Given the description of an element on the screen output the (x, y) to click on. 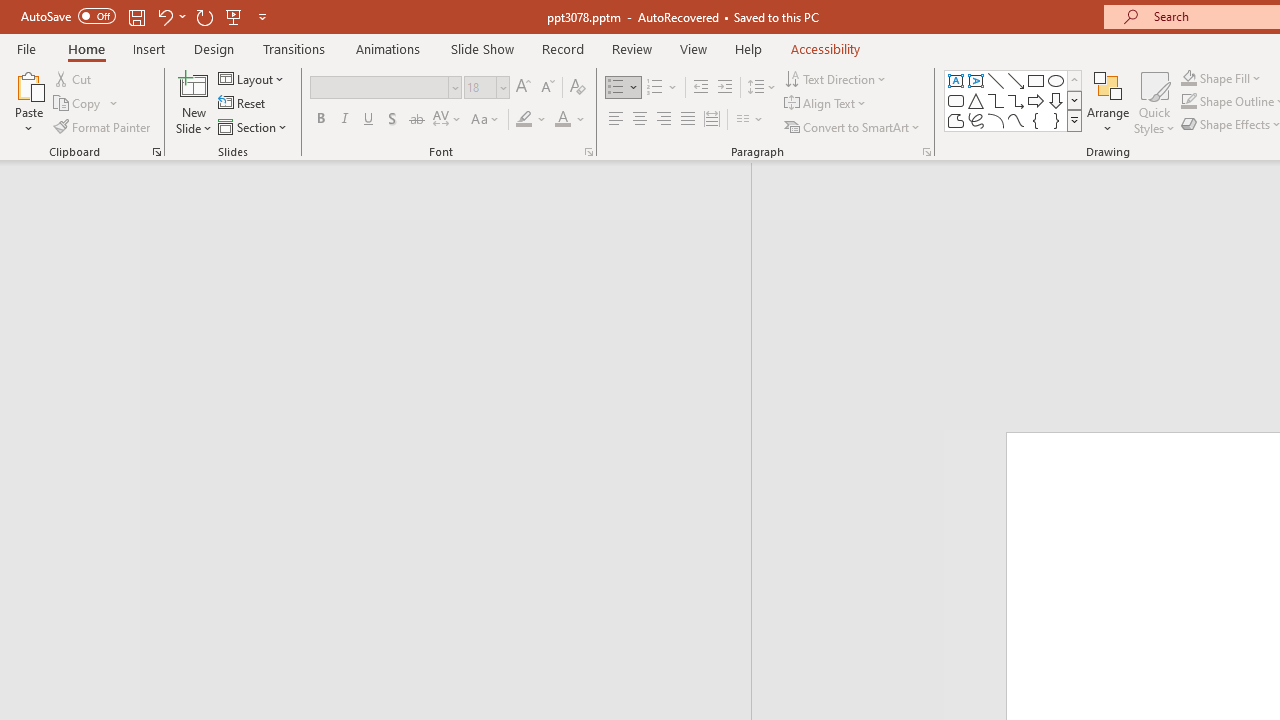
Shape Outline Green, Accent 1 (1188, 101)
